Given the description of an element on the screen output the (x, y) to click on. 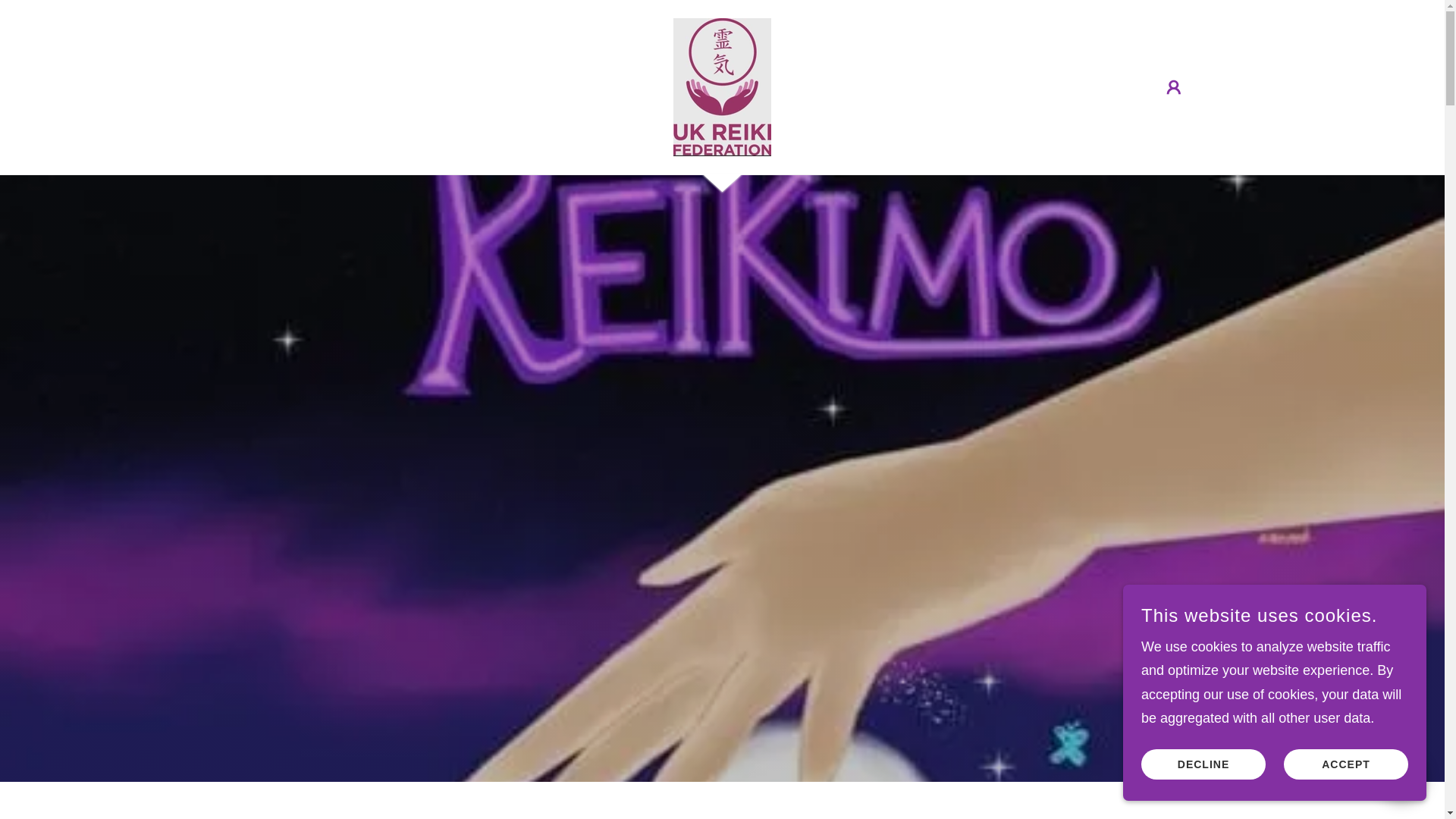
ACCEPT (721, 86)
DECLINE (1345, 764)
